Given the description of an element on the screen output the (x, y) to click on. 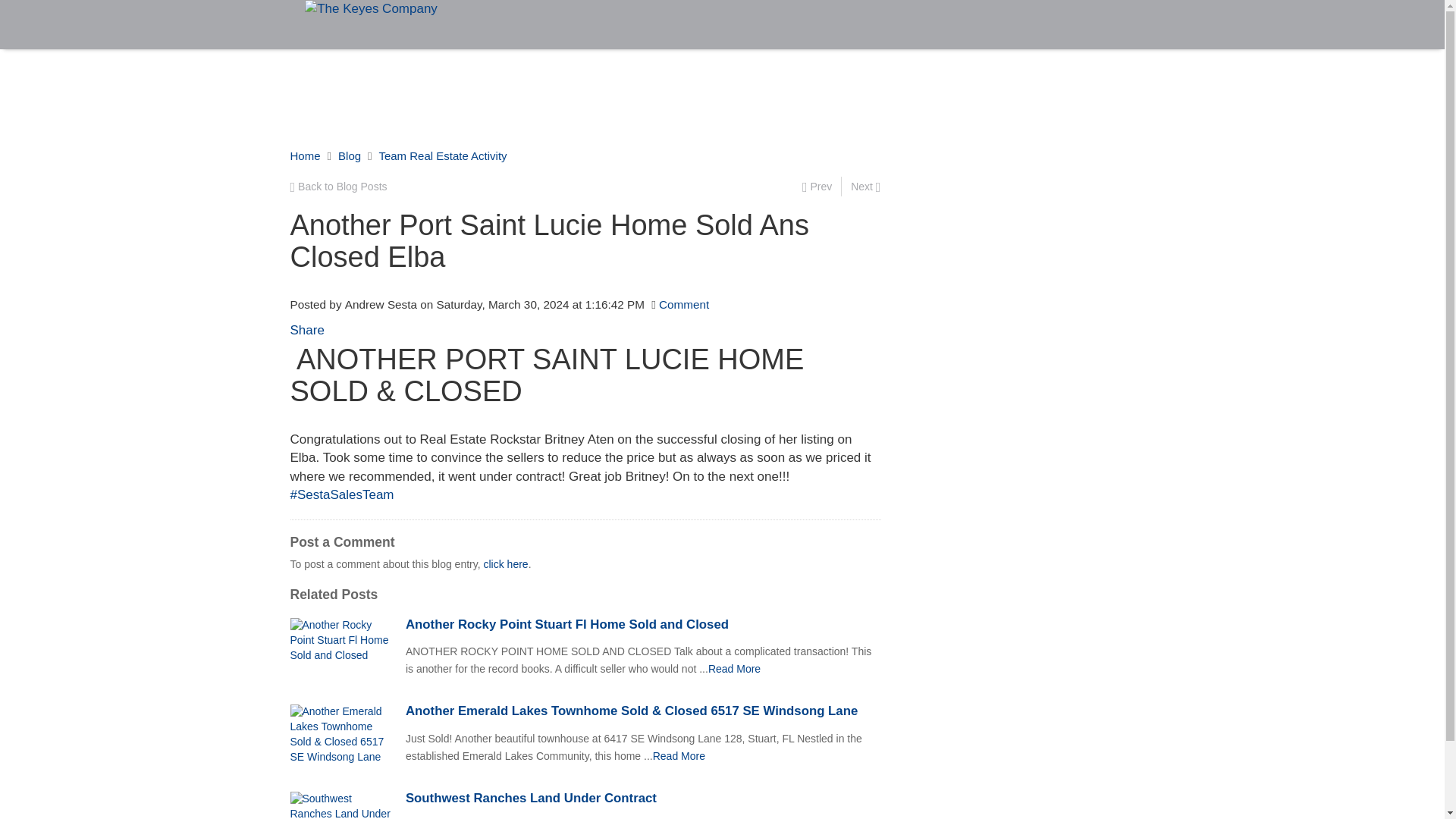
Blog (349, 155)
Another Port Saint Lucie Home Sold Ans Closed Elba (678, 756)
Southwest Ranches Land Under Contract (643, 798)
Another Rocky Point Stuart Fl Home Sold and Closed (643, 624)
Team Real Estate Activity (442, 155)
Another Port Saint Lucie Home Sold Ans Closed Elba (733, 668)
Home (304, 155)
